Given the description of an element on the screen output the (x, y) to click on. 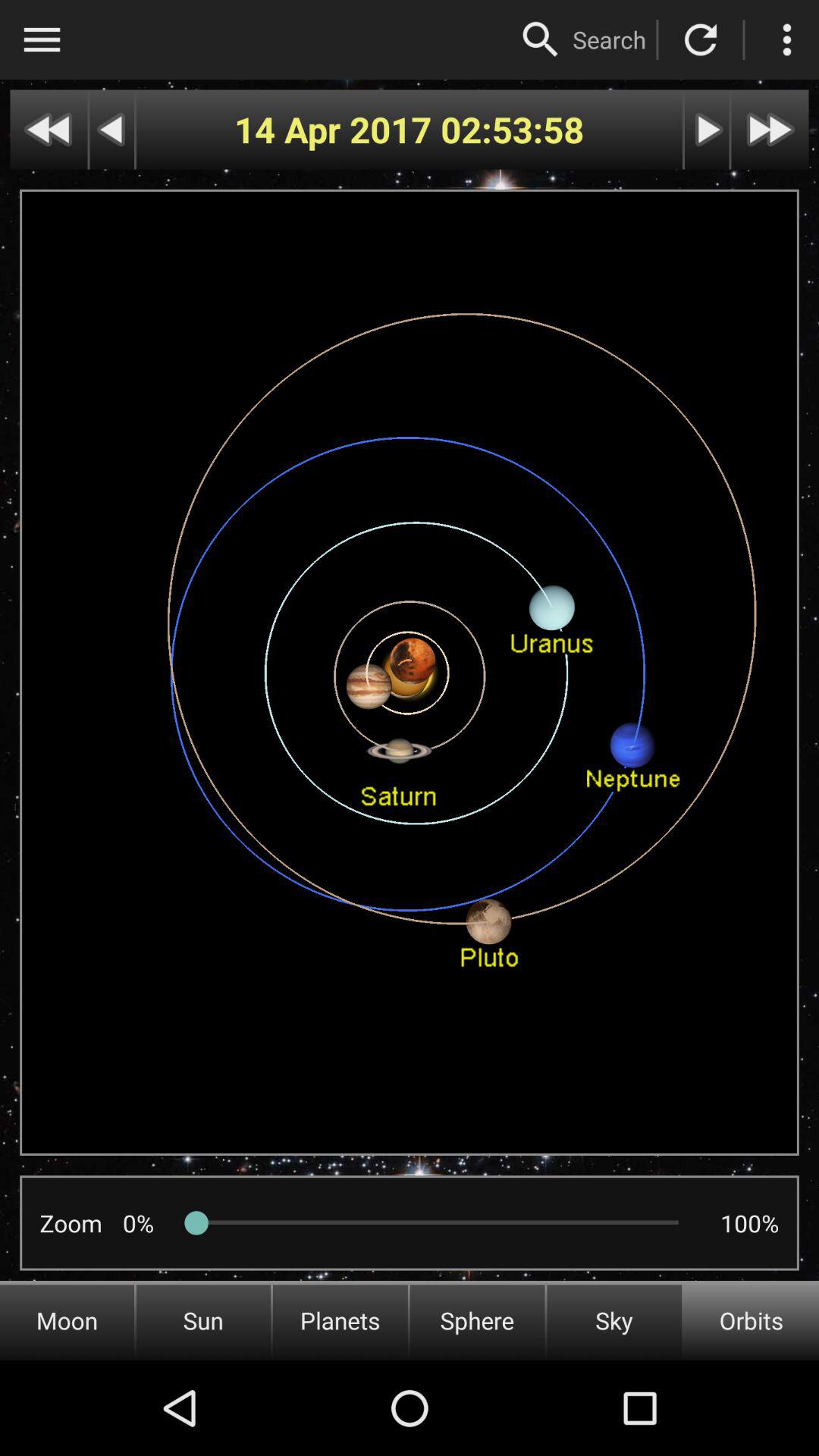
launch the icon to the left of the 02:53:58 icon (337, 129)
